Given the description of an element on the screen output the (x, y) to click on. 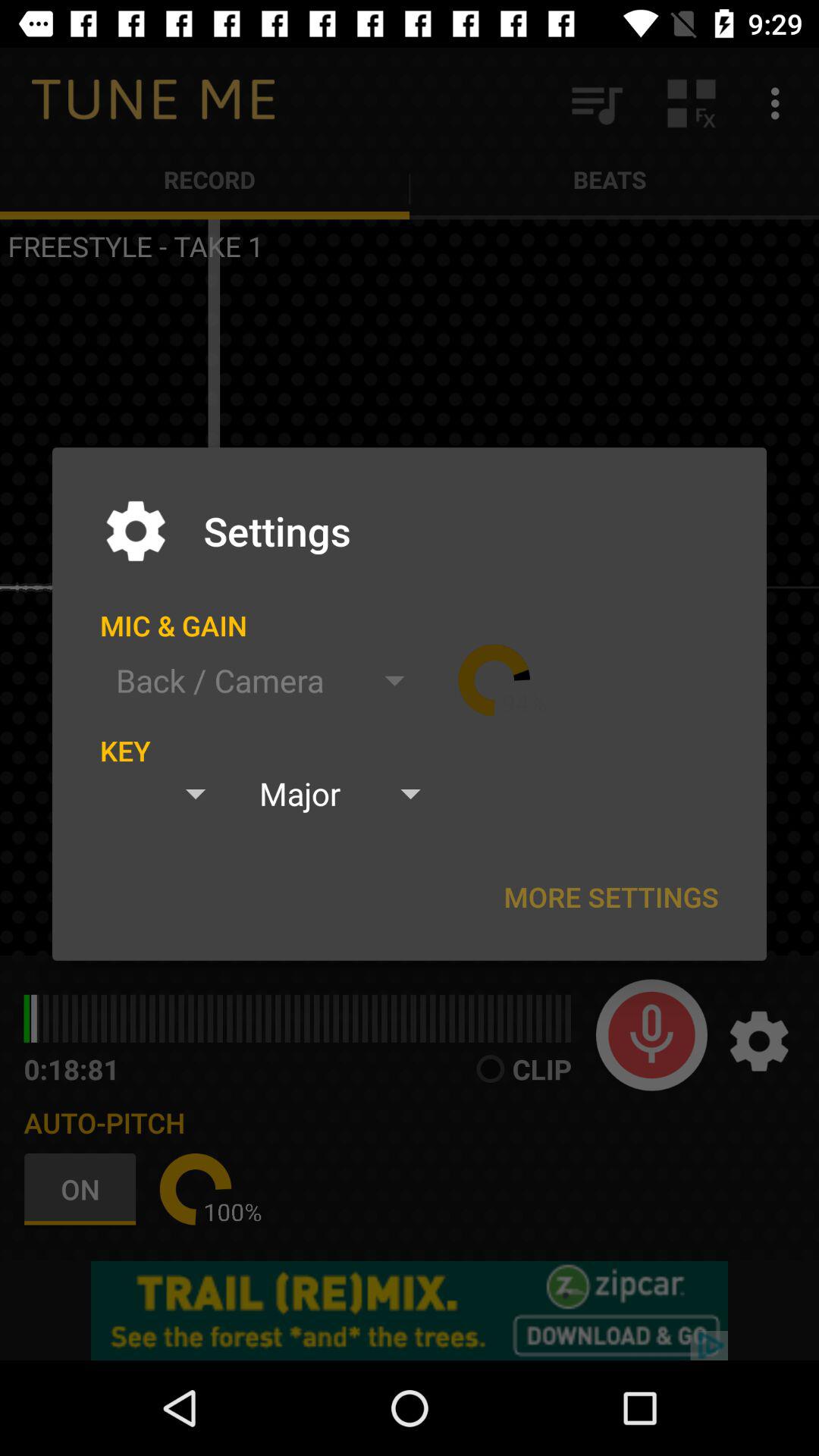
press the icon to the right of on item (195, 1189)
